Given the description of an element on the screen output the (x, y) to click on. 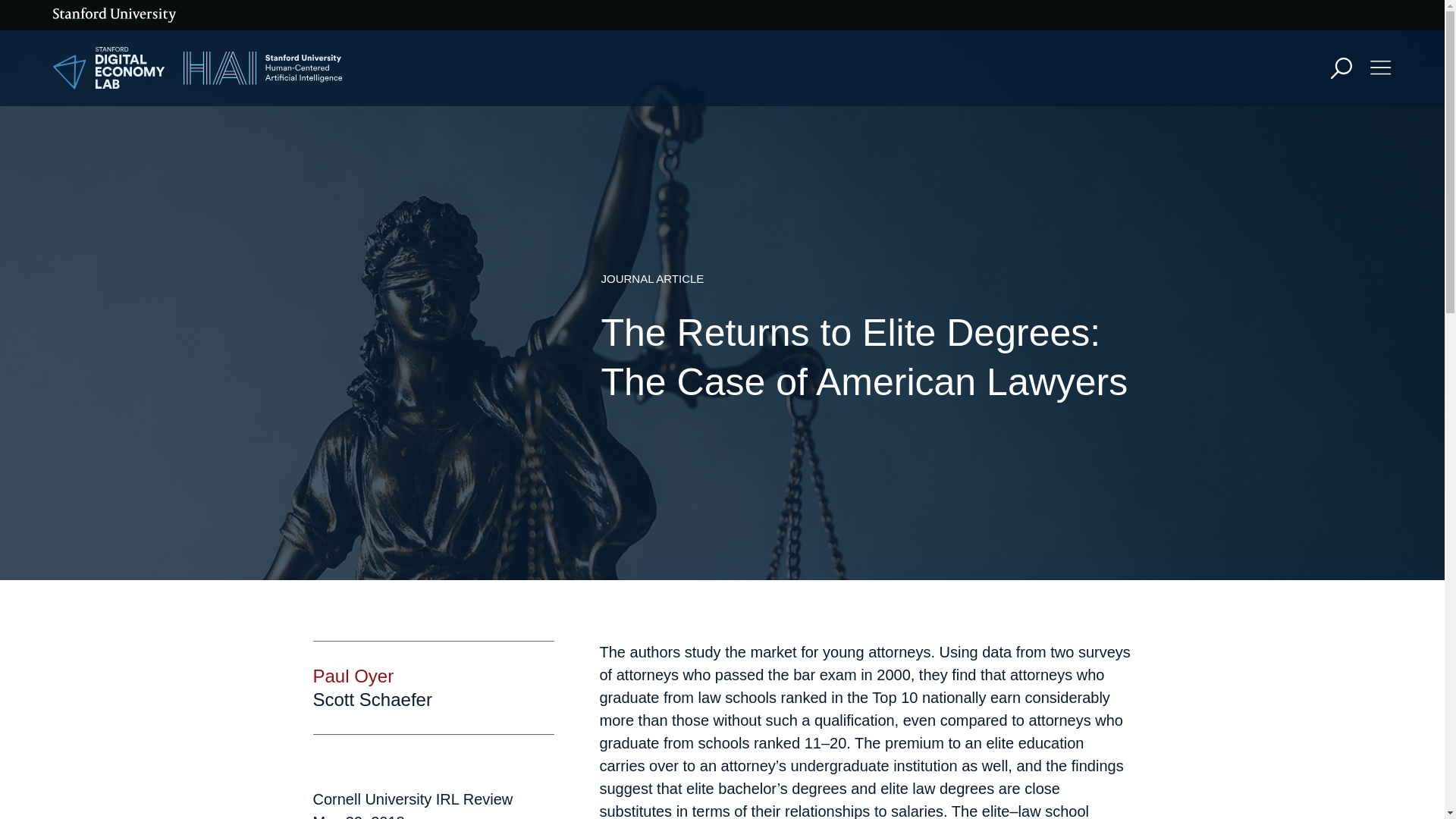
Paul Oyer (353, 675)
HAI (262, 67)
Digital Economy Lab (108, 67)
